Given the description of an element on the screen output the (x, y) to click on. 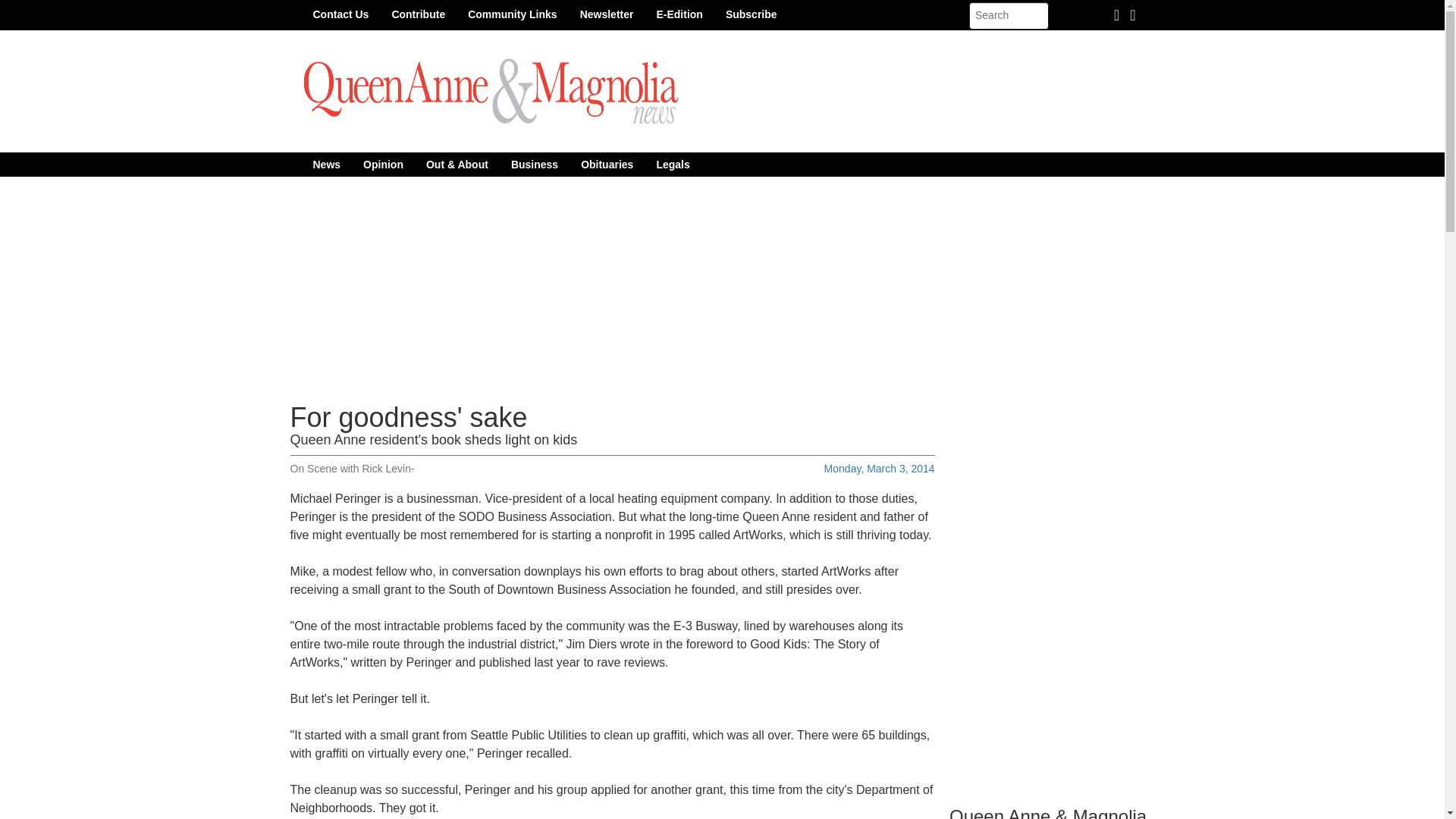
Subscribe (751, 14)
Community Links (512, 14)
Contact Us (340, 14)
Contribute (418, 14)
Obituaries (607, 164)
Legals (672, 164)
Newsletter (607, 14)
Opinion (383, 164)
Business (534, 164)
News (326, 164)
E-Edition (679, 14)
Monday, March 3, 2014 (879, 468)
